Given the description of an element on the screen output the (x, y) to click on. 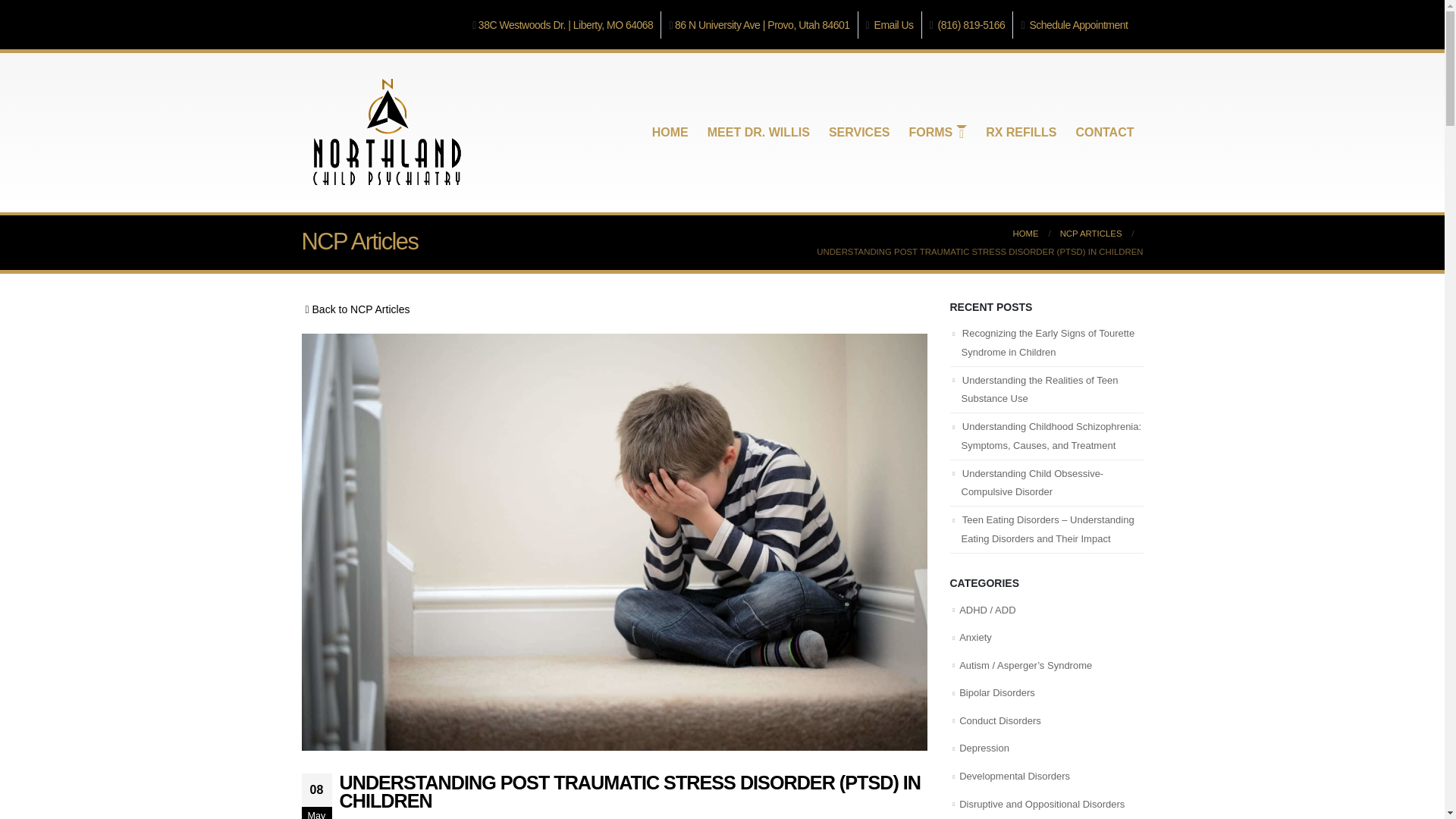
HOME (670, 131)
FORMS (937, 131)
Northland Child Psychiatry (411, 818)
Schedule Appointment (1077, 24)
Back to NCP Articles (355, 309)
RX REFILLS (1020, 131)
P.T.S.D. (489, 818)
HOME (1024, 233)
NCP ARTICLES (1090, 233)
Email Us (894, 24)
MEET DR. WILLIS (758, 131)
Go to Home Page (1024, 233)
CONTACT (1103, 131)
SERVICES (859, 131)
